Given the description of an element on the screen output the (x, y) to click on. 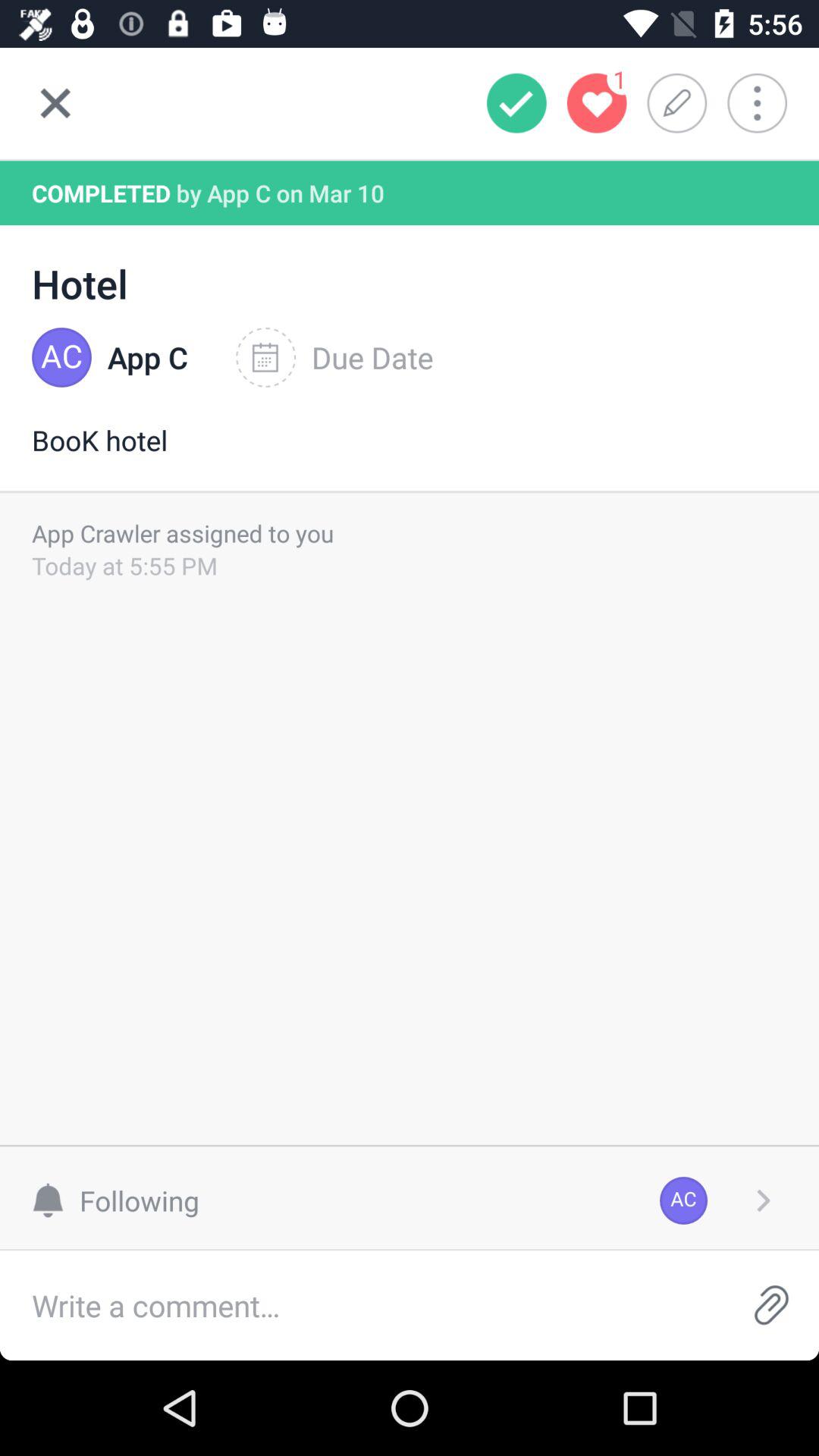
write comment (361, 1305)
